Given the description of an element on the screen output the (x, y) to click on. 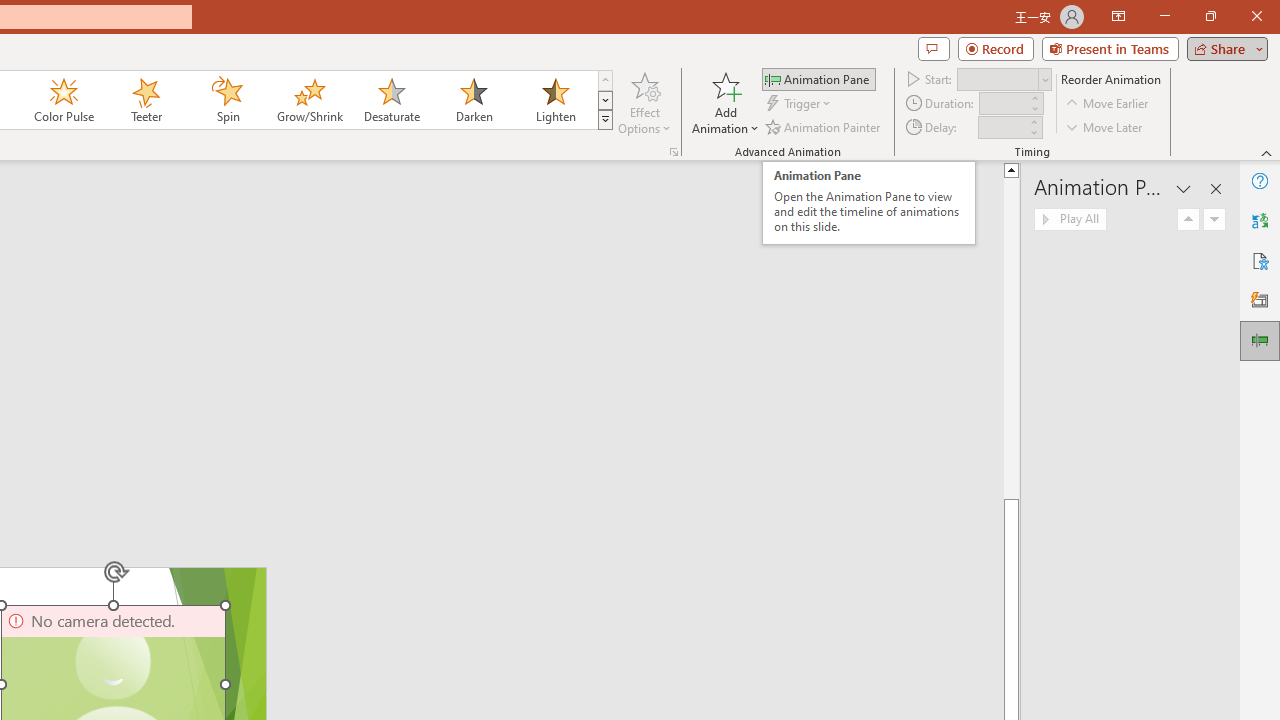
Add Animation (725, 102)
Animation Painter (824, 126)
Grow/Shrink (309, 100)
Desaturate (391, 100)
Move Up (1188, 219)
Animation Pane (818, 78)
Animation Pane (1260, 340)
